Given the description of an element on the screen output the (x, y) to click on. 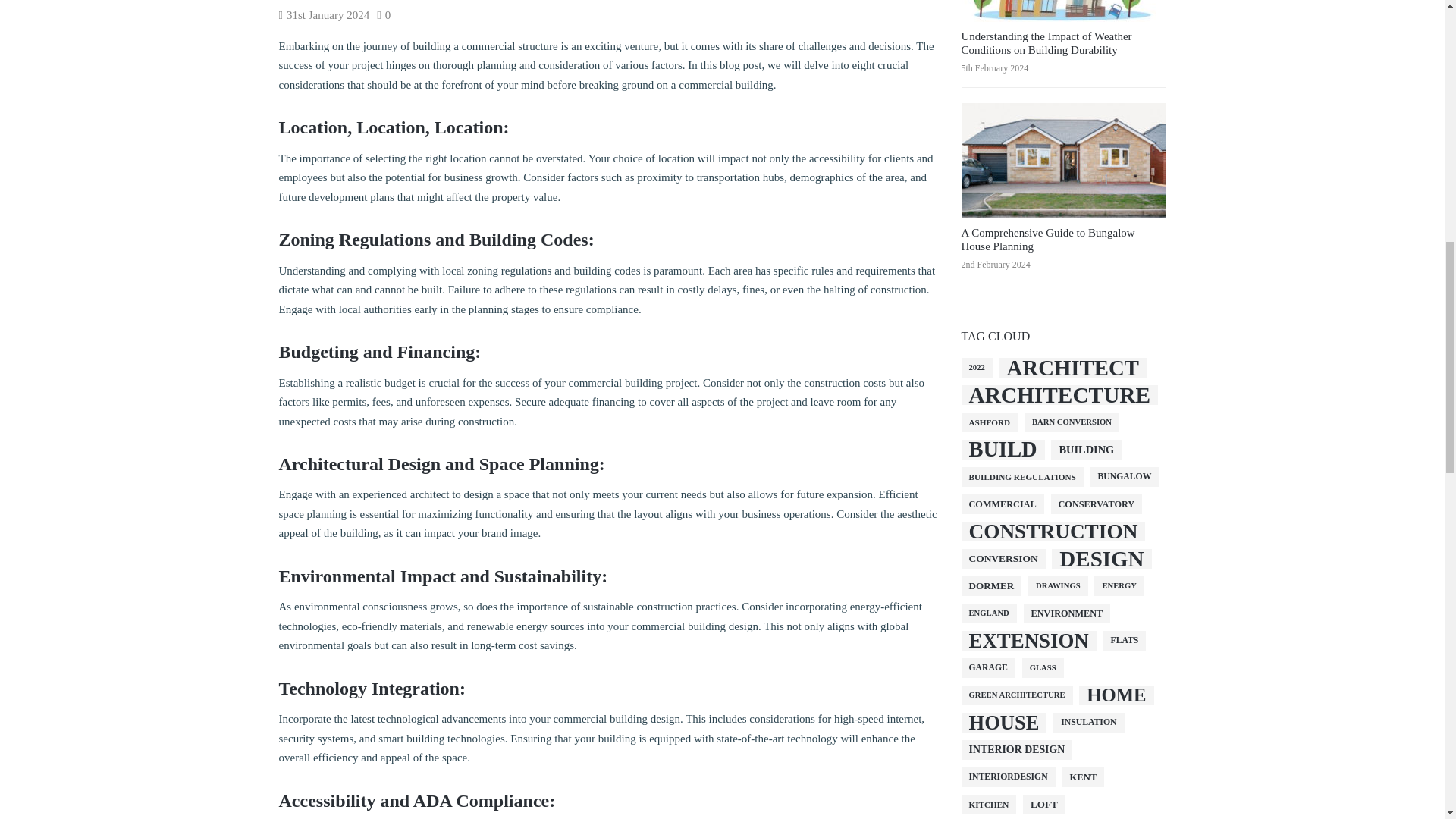
A Comprehensive Guide to Bungalow House Planning (1047, 239)
31st January 2024 (327, 15)
2022 (976, 367)
